Given the description of an element on the screen output the (x, y) to click on. 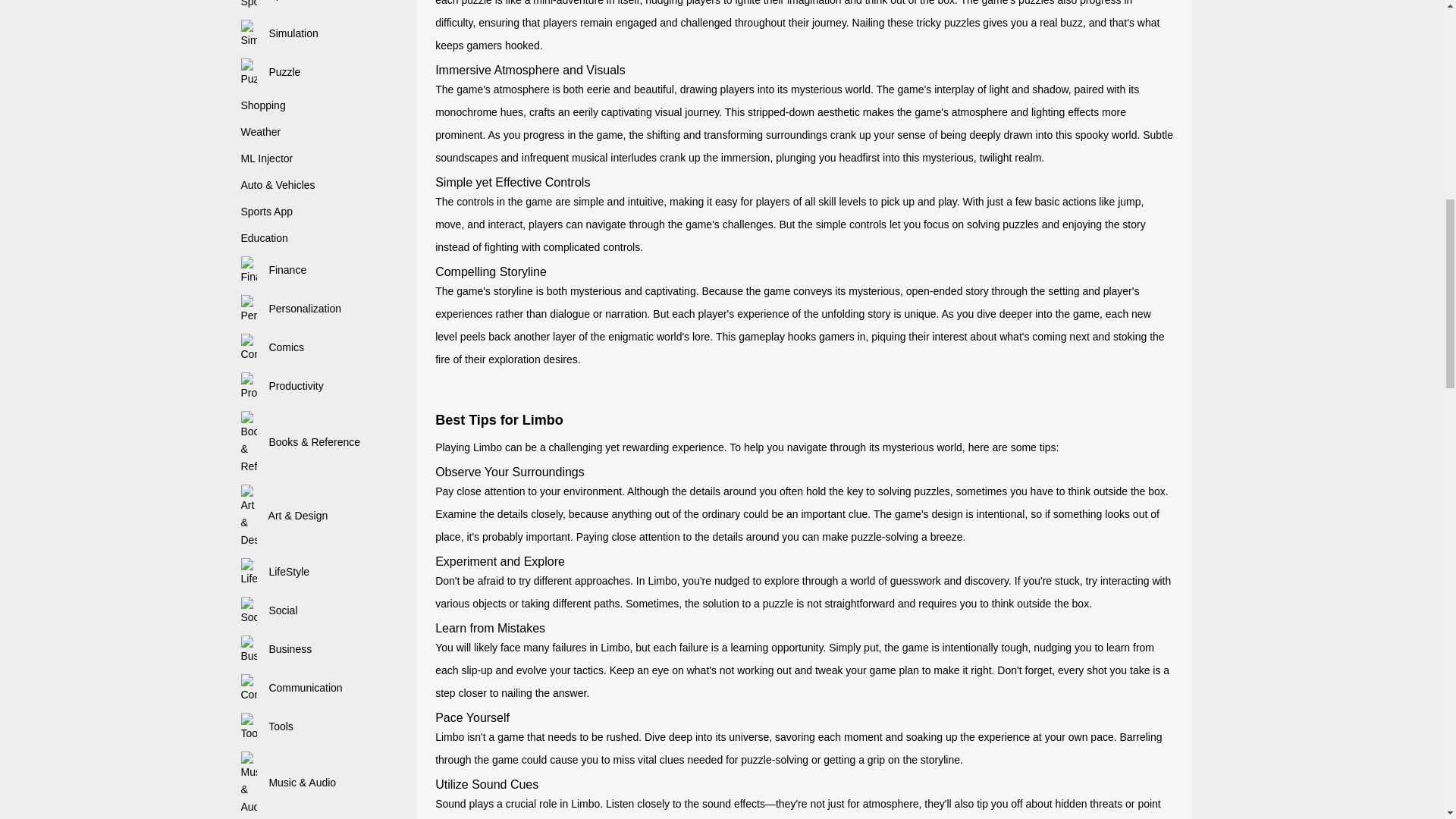
Finance (274, 269)
Puzzle (271, 71)
Personalization (291, 308)
Shopping (263, 105)
Comics (272, 346)
Productivity (282, 386)
Sports (270, 0)
Sports App (267, 211)
Education (264, 237)
ML Injector (267, 158)
Weather (261, 132)
Simulation (279, 33)
